Given the description of an element on the screen output the (x, y) to click on. 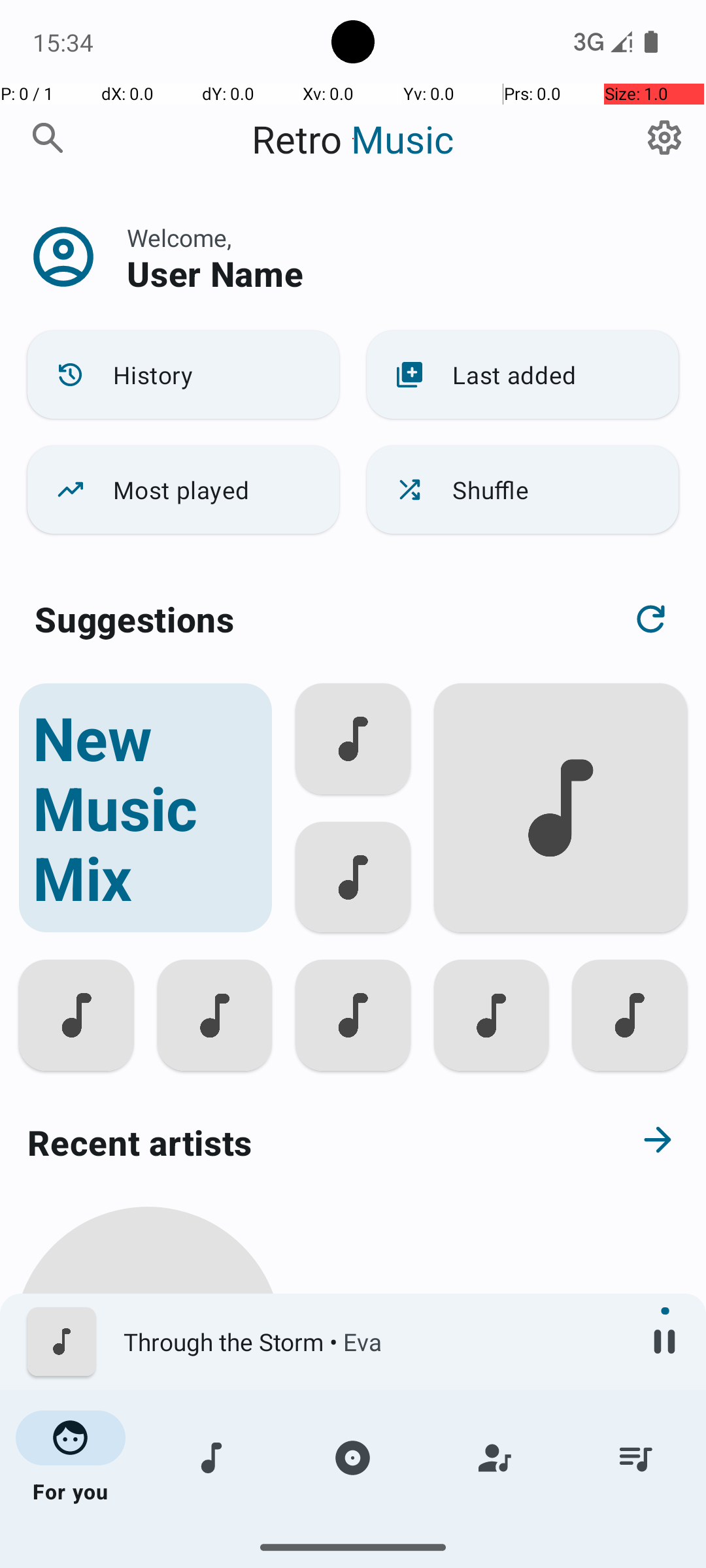
Welcome, Element type: android.widget.TextView (179, 237)
User Name Element type: android.widget.TextView (214, 273)
Through the Storm • Eva Element type: android.widget.TextView (372, 1341)
Most played Element type: android.widget.Button (183, 489)
Suggestions Element type: android.widget.TextView (134, 618)
New Music Mix Element type: android.widget.TextView (144, 807)
Recent artists Element type: android.widget.TextView (304, 1141)
Recent albums Element type: android.widget.TextView (304, 1557)
Luka Element type: android.widget.TextView (147, 1503)
